Given the description of an element on the screen output the (x, y) to click on. 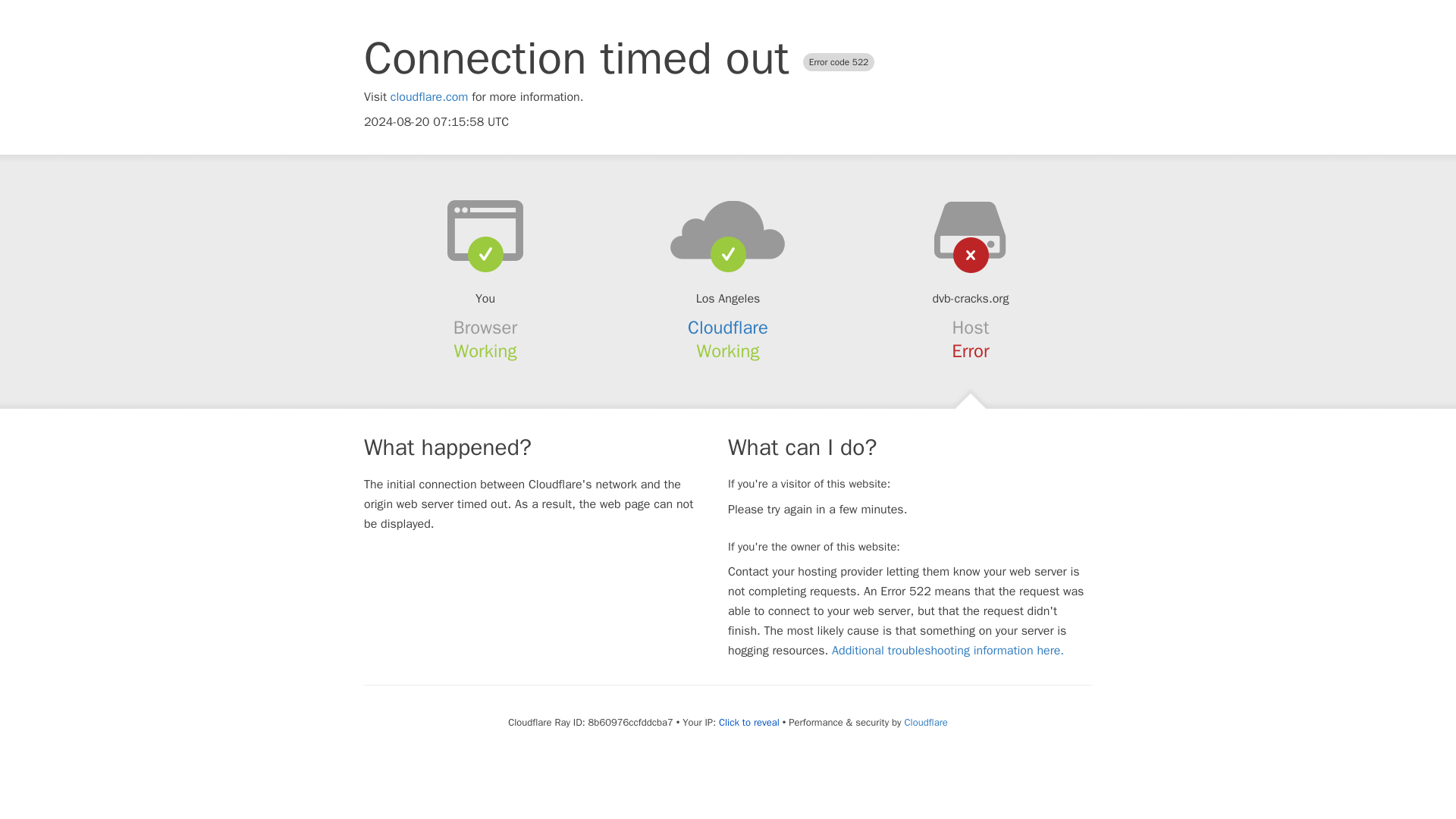
cloudflare.com (429, 96)
Additional troubleshooting information here. (947, 650)
Click to reveal (748, 722)
Cloudflare (925, 721)
Cloudflare (727, 327)
